Given the description of an element on the screen output the (x, y) to click on. 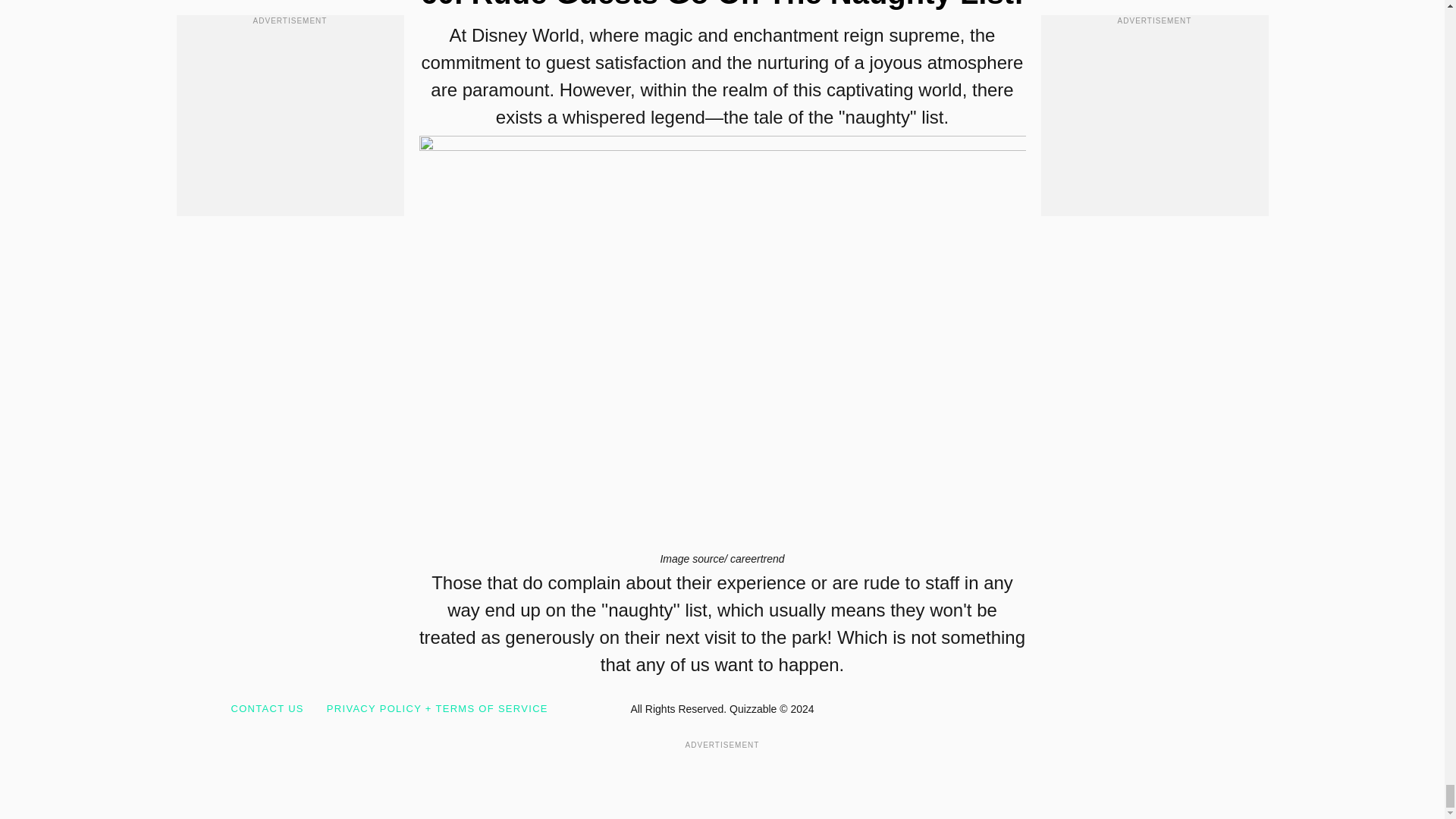
CONTACT US (266, 708)
